Given the description of an element on the screen output the (x, y) to click on. 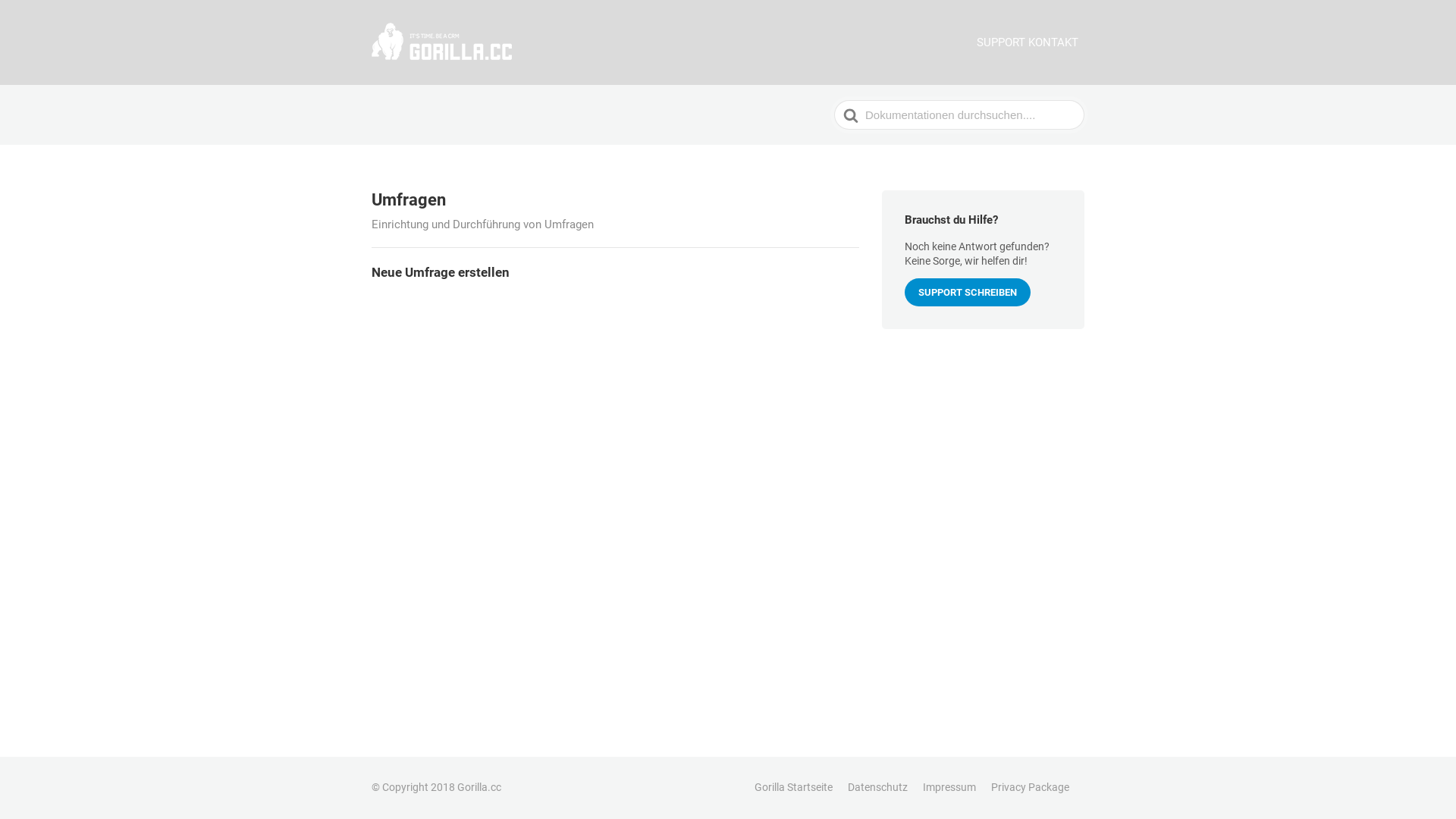
Impressum Element type: text (948, 787)
Gorilla Startseite Element type: text (793, 787)
Datenschutz Element type: text (877, 787)
Neue Umfrage erstellen Element type: text (615, 272)
SUPPORT SCHREIBEN Element type: text (967, 292)
SUPPORT KONTAKT Element type: text (1027, 41)
Privacy Package Element type: text (1030, 787)
